Given the description of an element on the screen output the (x, y) to click on. 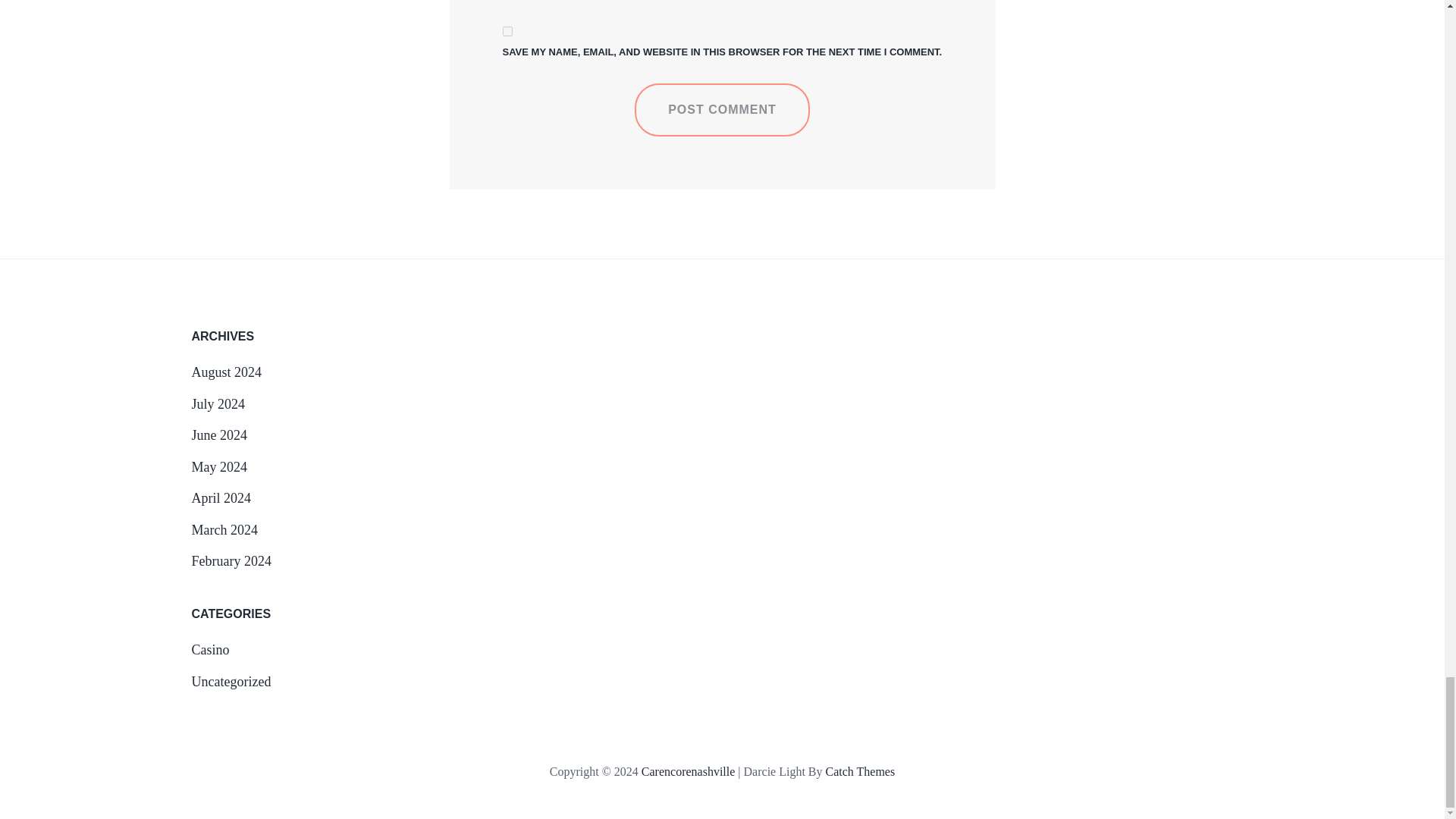
May 2024 (218, 467)
July 2024 (217, 403)
Post Comment (721, 109)
Post Comment (721, 109)
Catch Themes (860, 771)
June 2024 (218, 435)
Carencorenashville (688, 771)
Casino (209, 649)
February 2024 (230, 560)
yes (507, 31)
March 2024 (223, 529)
April 2024 (220, 498)
Uncategorized (230, 681)
August 2024 (226, 372)
